Given the description of an element on the screen output the (x, y) to click on. 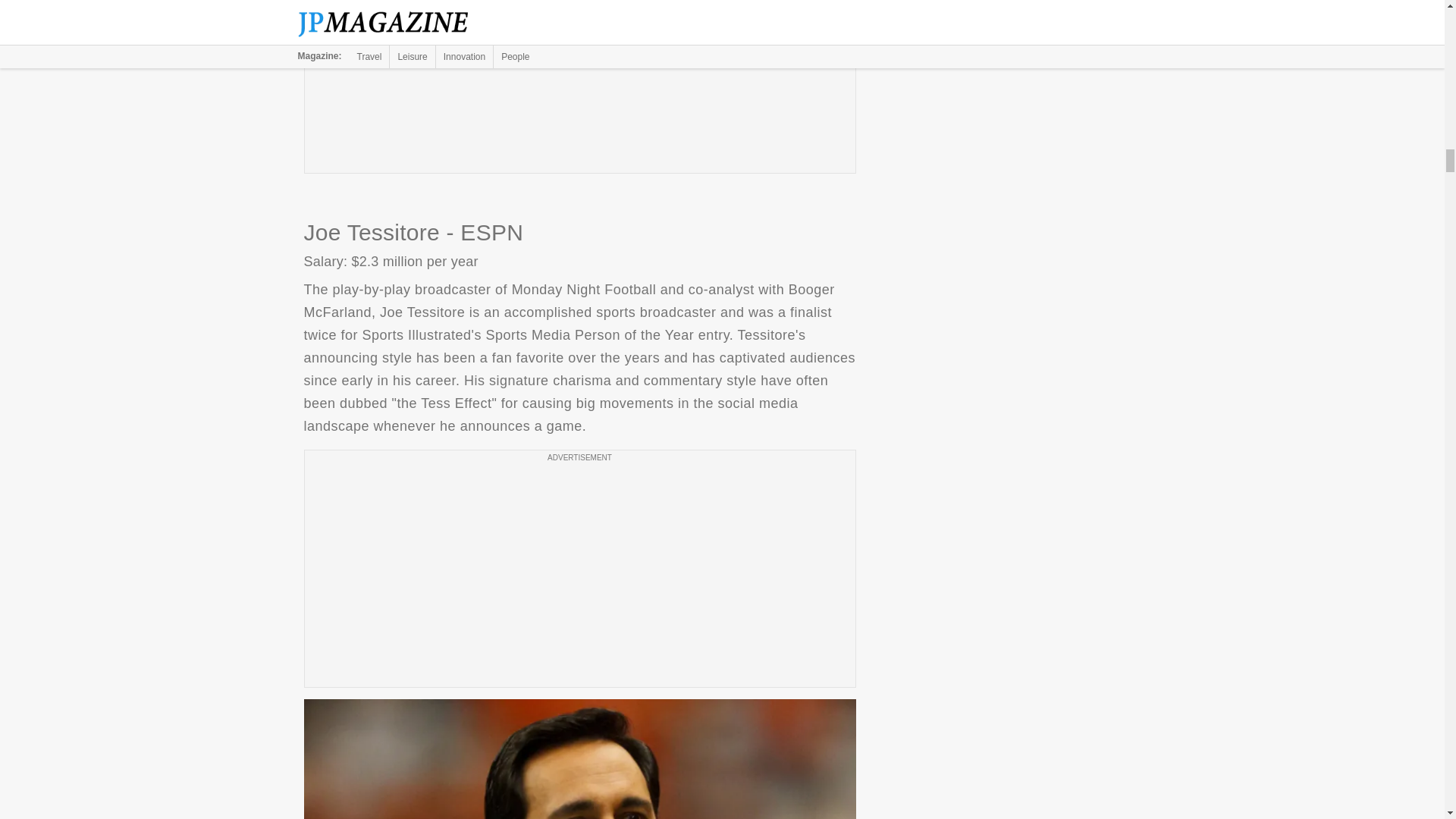
Joe Tessitore - ESPN (579, 759)
